Given the description of an element on the screen output the (x, y) to click on. 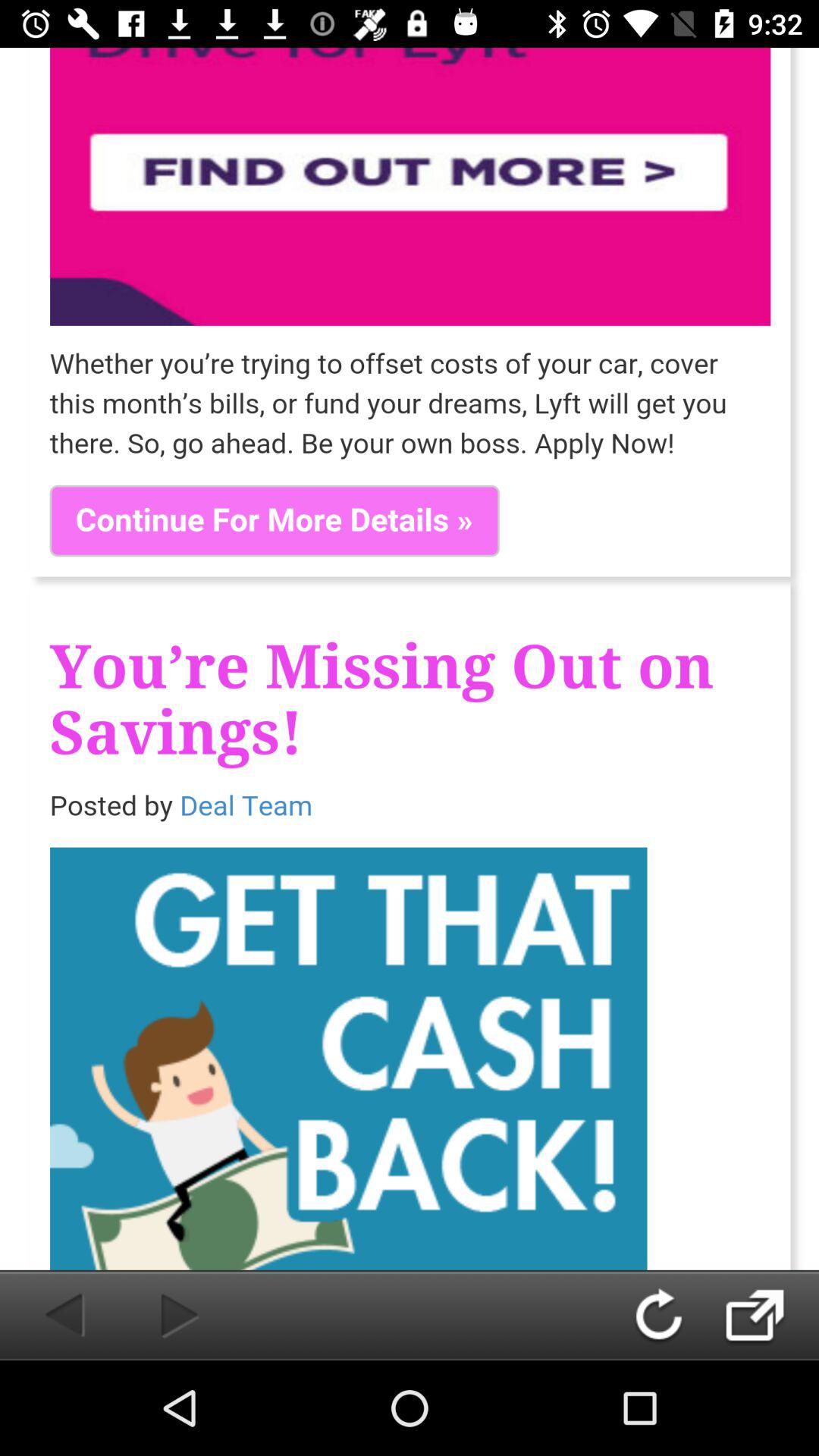
go back to previous page (673, 1315)
